Given the description of an element on the screen output the (x, y) to click on. 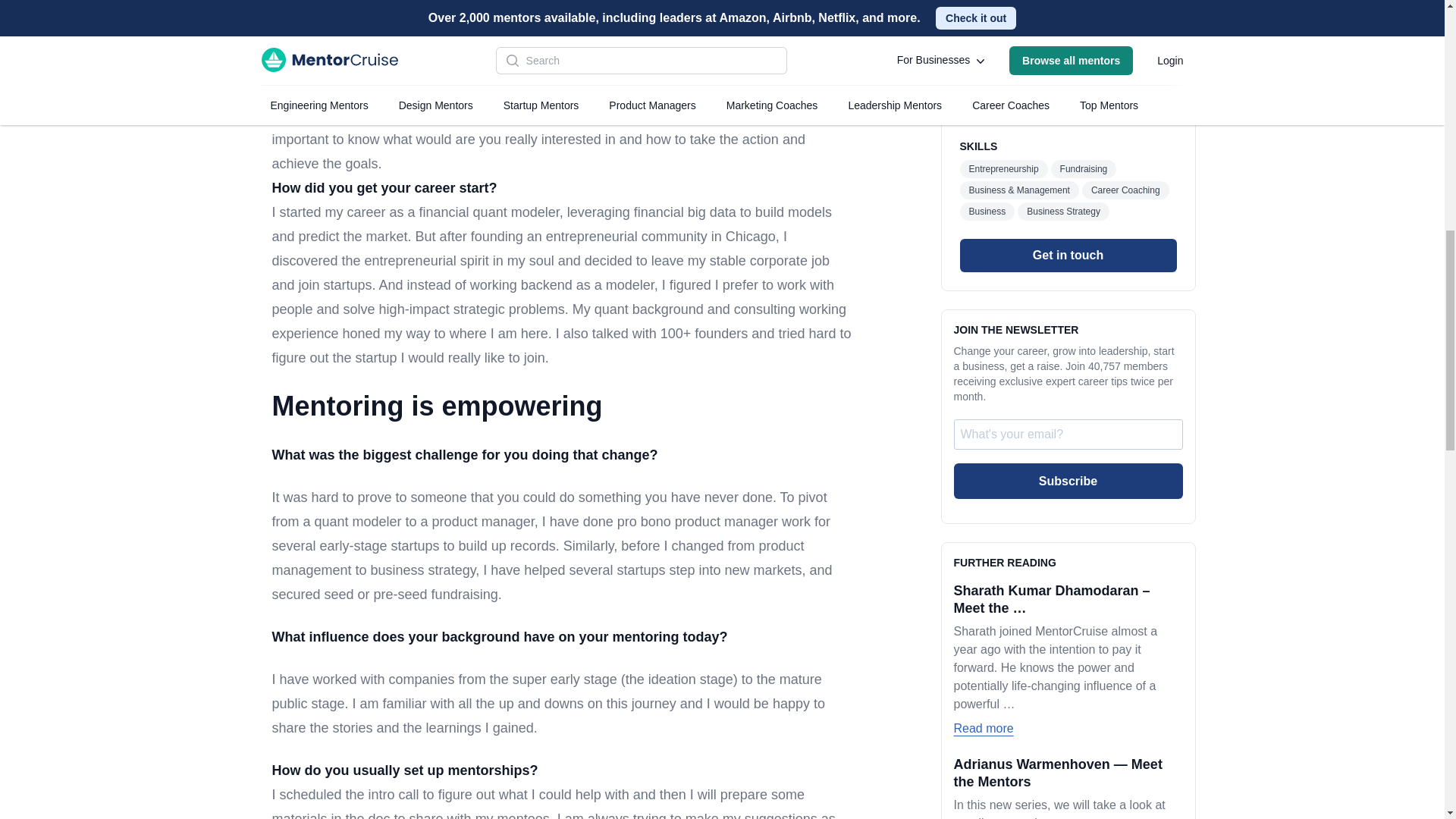
Subscribe (1067, 154)
Read more (983, 402)
Read more (983, 557)
Read more (983, 713)
